Given the description of an element on the screen output the (x, y) to click on. 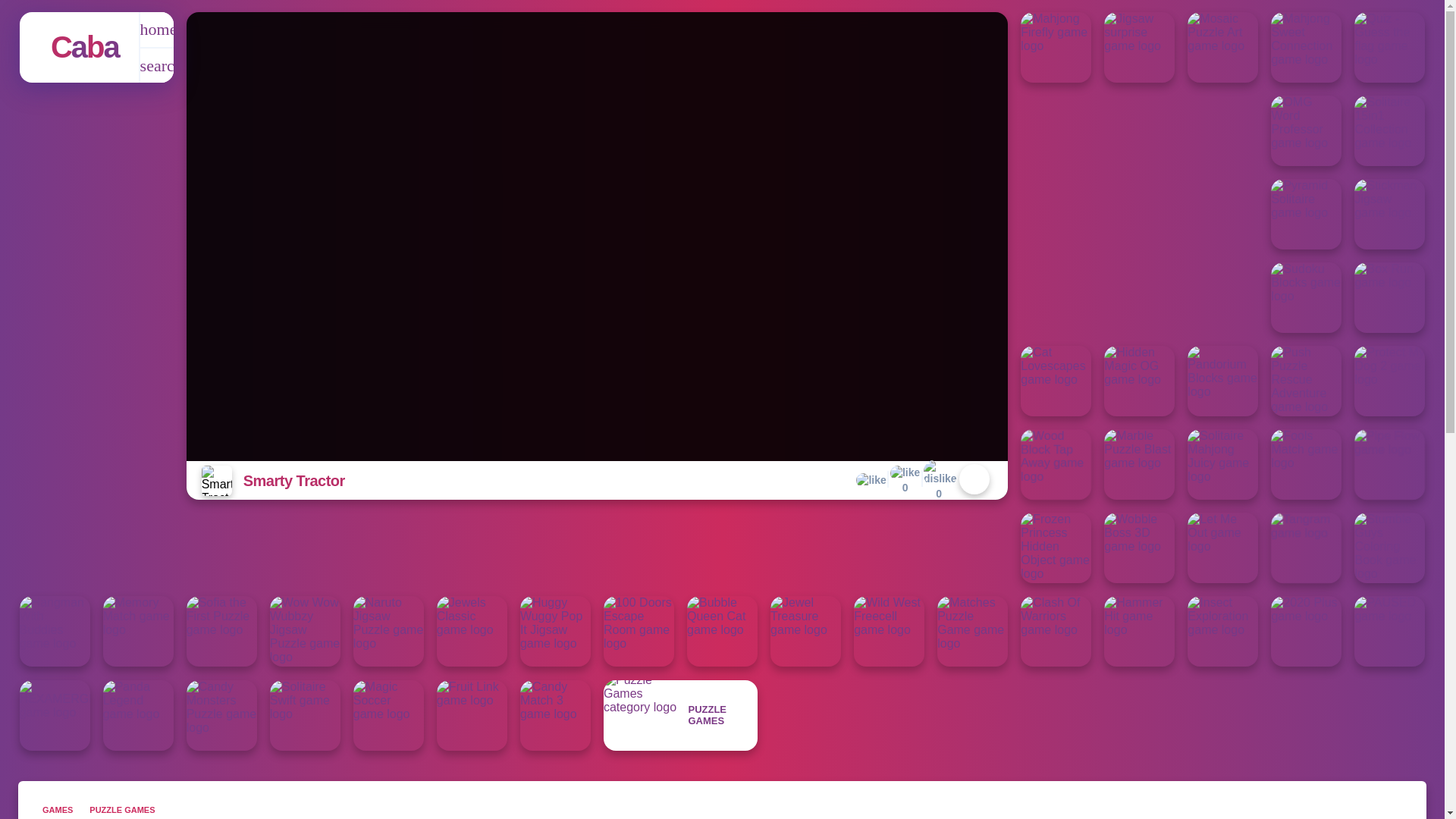
home (156, 30)
0 (85, 47)
0 (904, 480)
Smarty Tractor (938, 480)
Puzzle Games (156, 65)
